Given the description of an element on the screen output the (x, y) to click on. 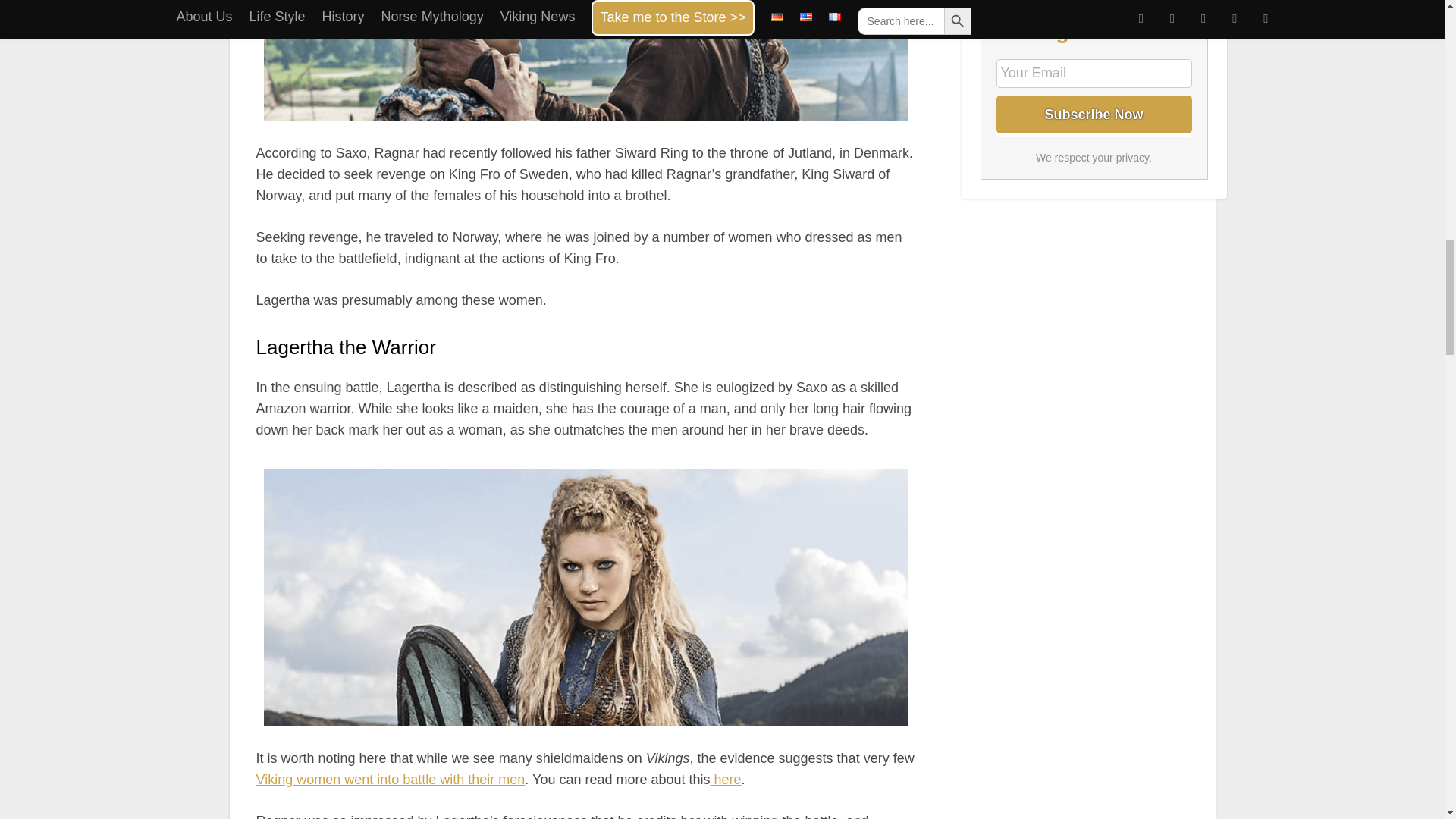
Subscribe Now (1093, 114)
Viking women went into battle with their men (390, 779)
Subscribe Now (1093, 114)
here (727, 779)
